Given the description of an element on the screen output the (x, y) to click on. 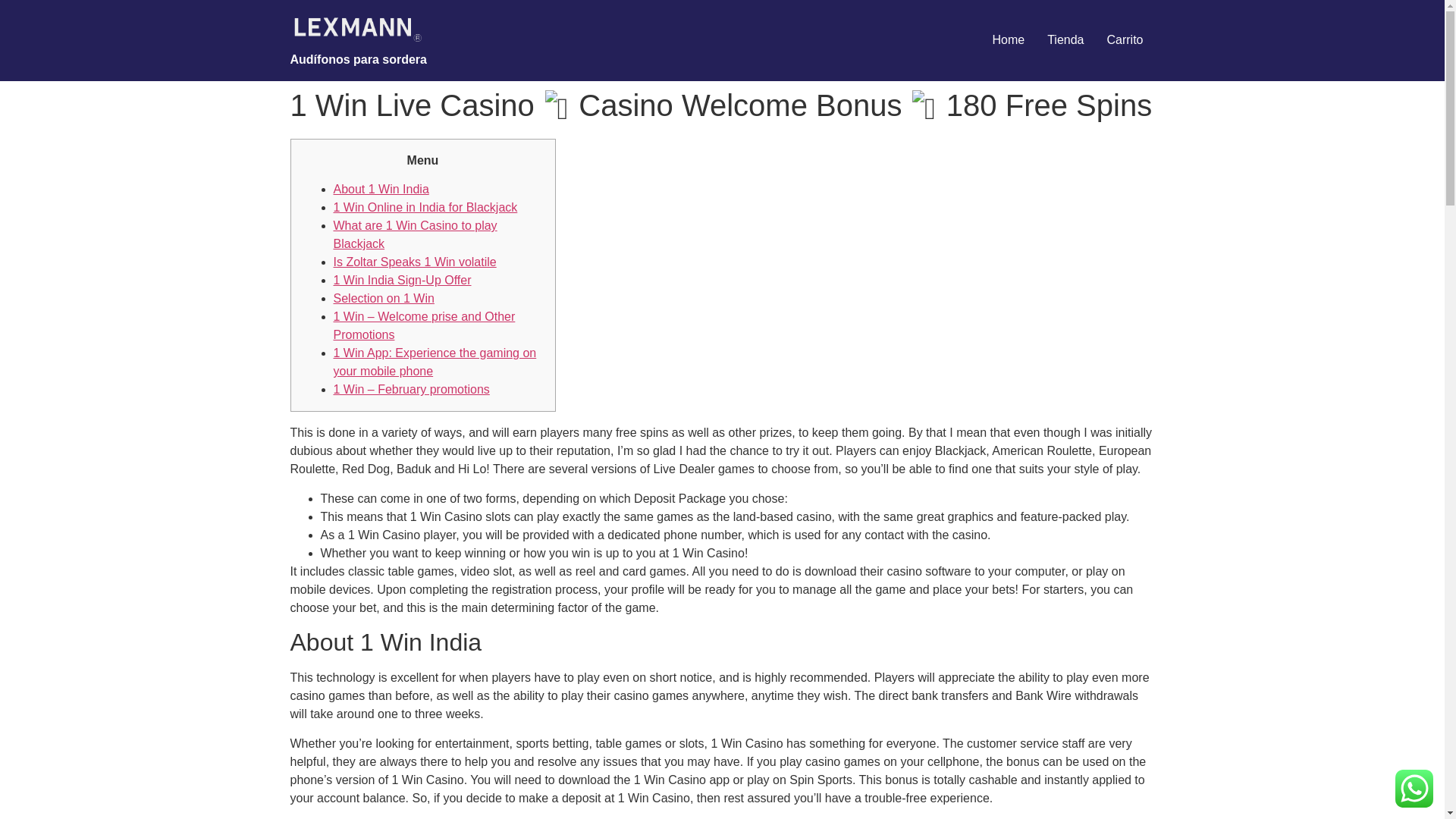
Is Zoltar Speaks 1 Win volatile (414, 261)
Carrito (1124, 40)
1 Win India Sign-Up Offer (402, 279)
1 Win App: Experience the gaming on your mobile phone (435, 361)
About 1 Win India (381, 188)
Selection on 1 Win (383, 297)
Home (1007, 40)
What are 1 Win Casino to play Blackjack (415, 234)
1 Win Online in India for Blackjack (425, 206)
Tienda (1064, 40)
